Given the description of an element on the screen output the (x, y) to click on. 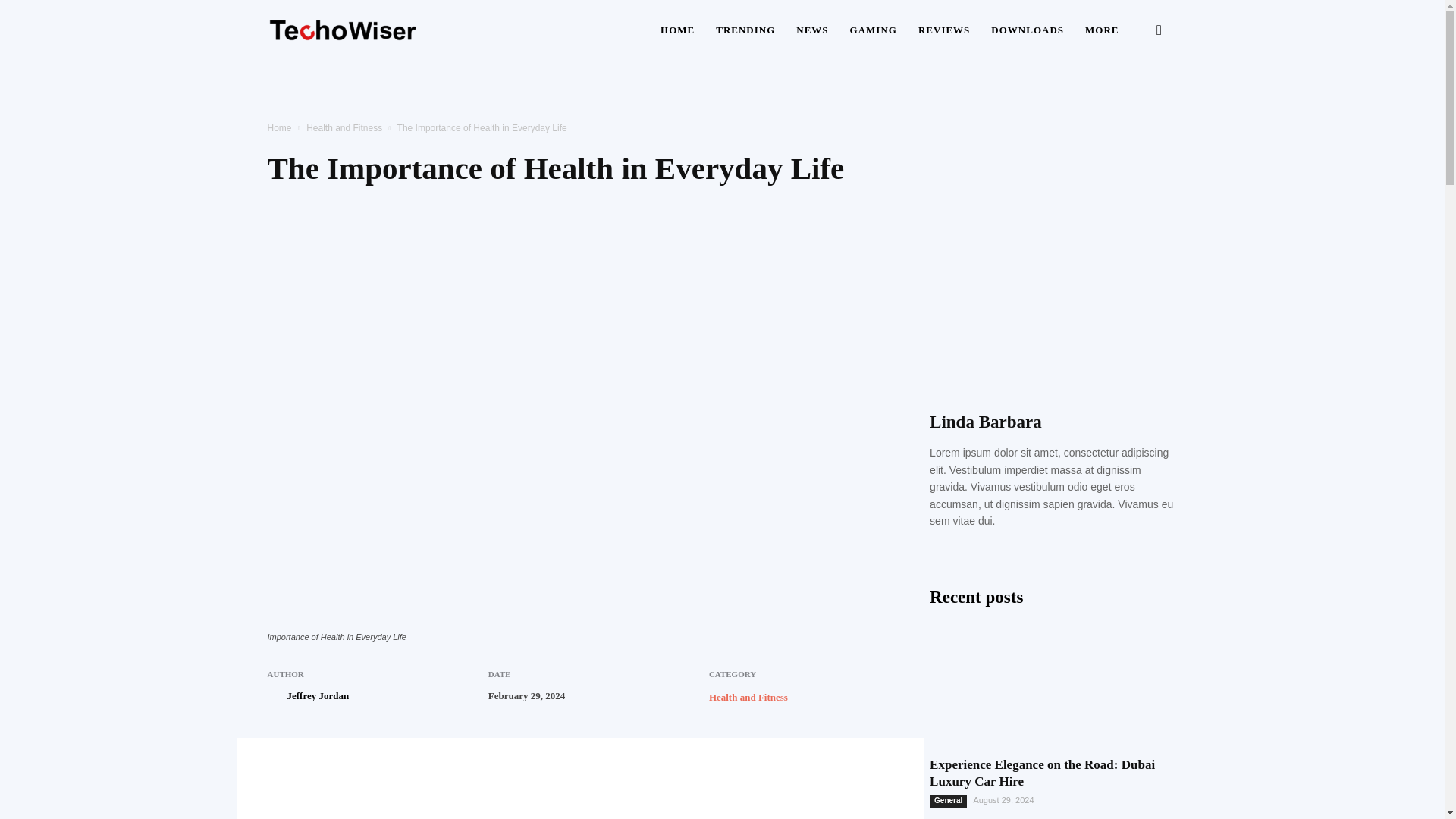
DOWNLOADS (1026, 30)
MORE (1101, 30)
HOME (676, 30)
View all posts in Health and Fitness (343, 127)
Home (278, 127)
TRENDING (745, 30)
TechoWiser (342, 30)
Jeffrey Jordan (317, 695)
Health and Fitness (343, 127)
REVIEWS (943, 30)
